Given the description of an element on the screen output the (x, y) to click on. 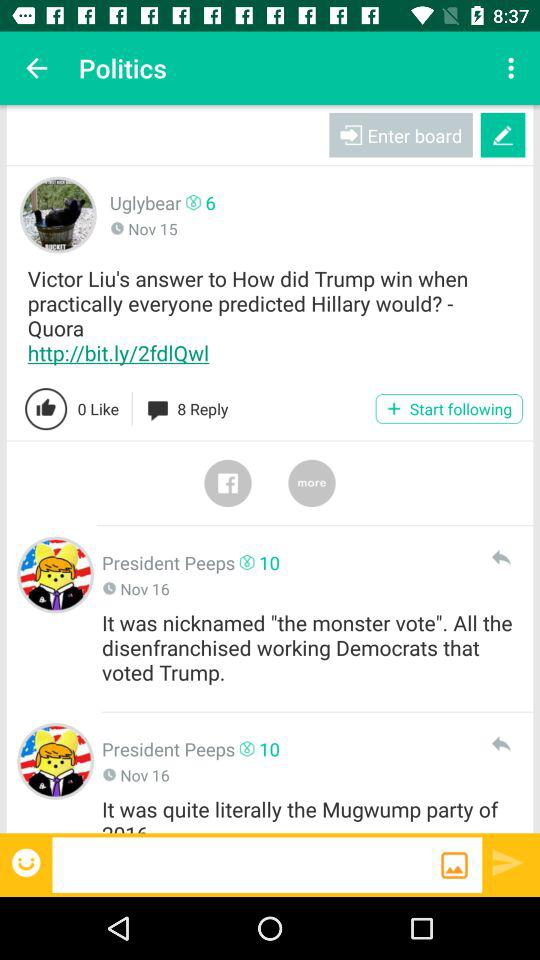
share on facebook (228, 483)
